Given the description of an element on the screen output the (x, y) to click on. 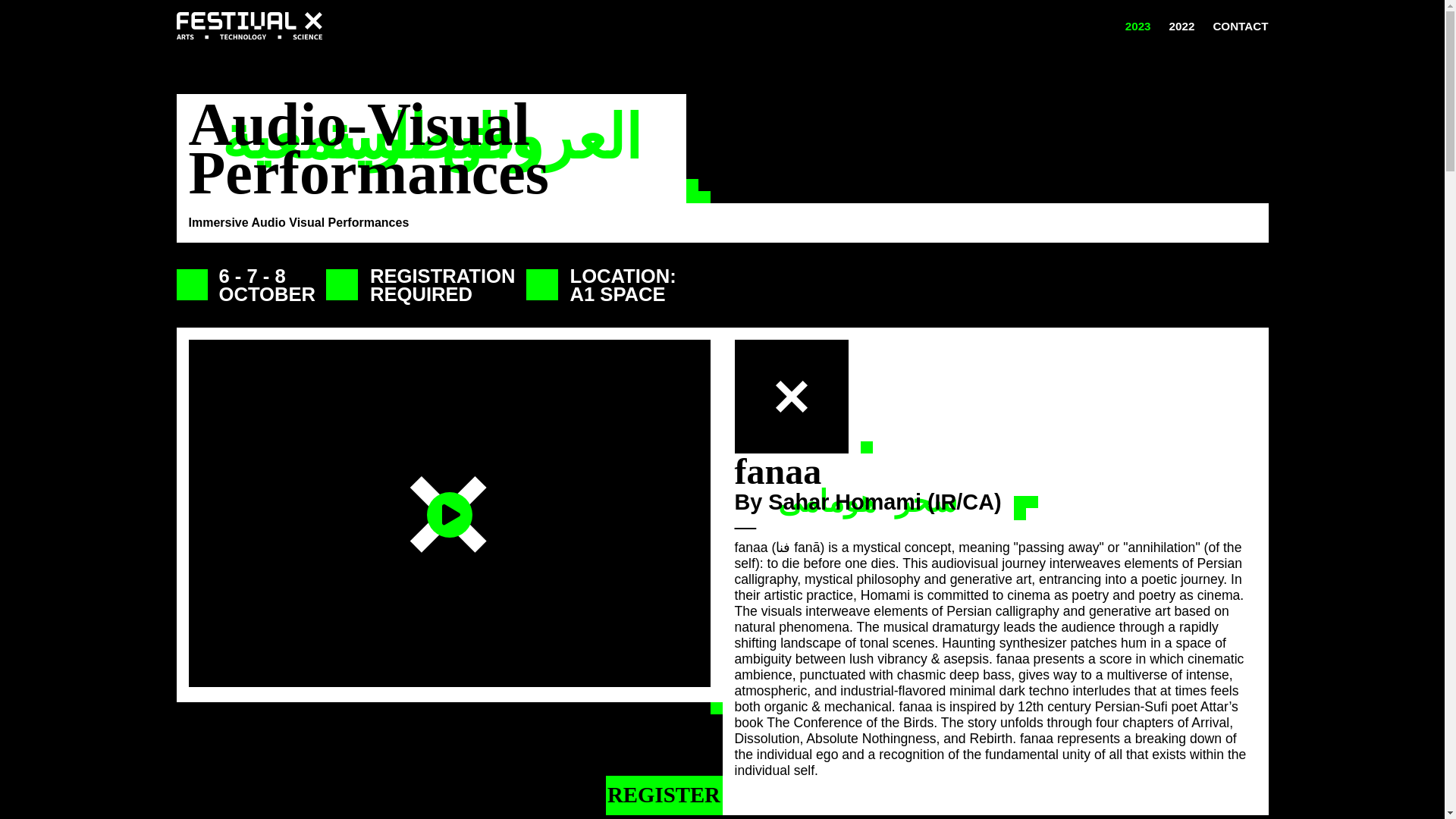
REGISTER (663, 794)
2023 (1138, 25)
2022 (1182, 25)
CONTACT (1240, 25)
